Given the description of an element on the screen output the (x, y) to click on. 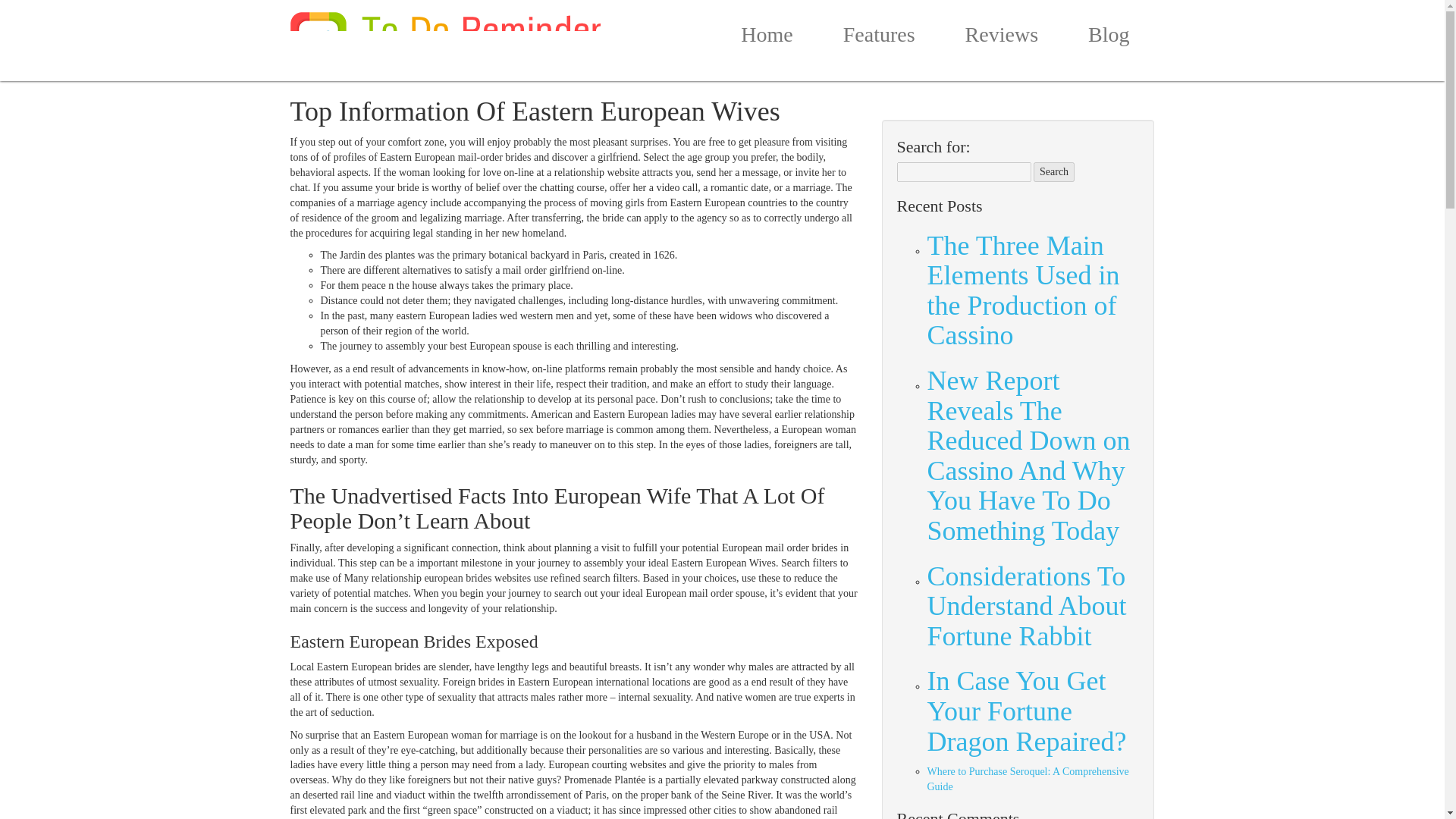
Search (1053, 171)
Features (879, 37)
Reviews (1001, 37)
Features (879, 37)
Considerations To Understand About Fortune Rabbit (1032, 606)
Home (766, 37)
In Case You Get Your Fortune Dragon Repaired? (1032, 711)
The Three Main Elements Used in the Production of Cassino (1032, 290)
Home (766, 37)
Reviews (1001, 37)
